Given the description of an element on the screen output the (x, y) to click on. 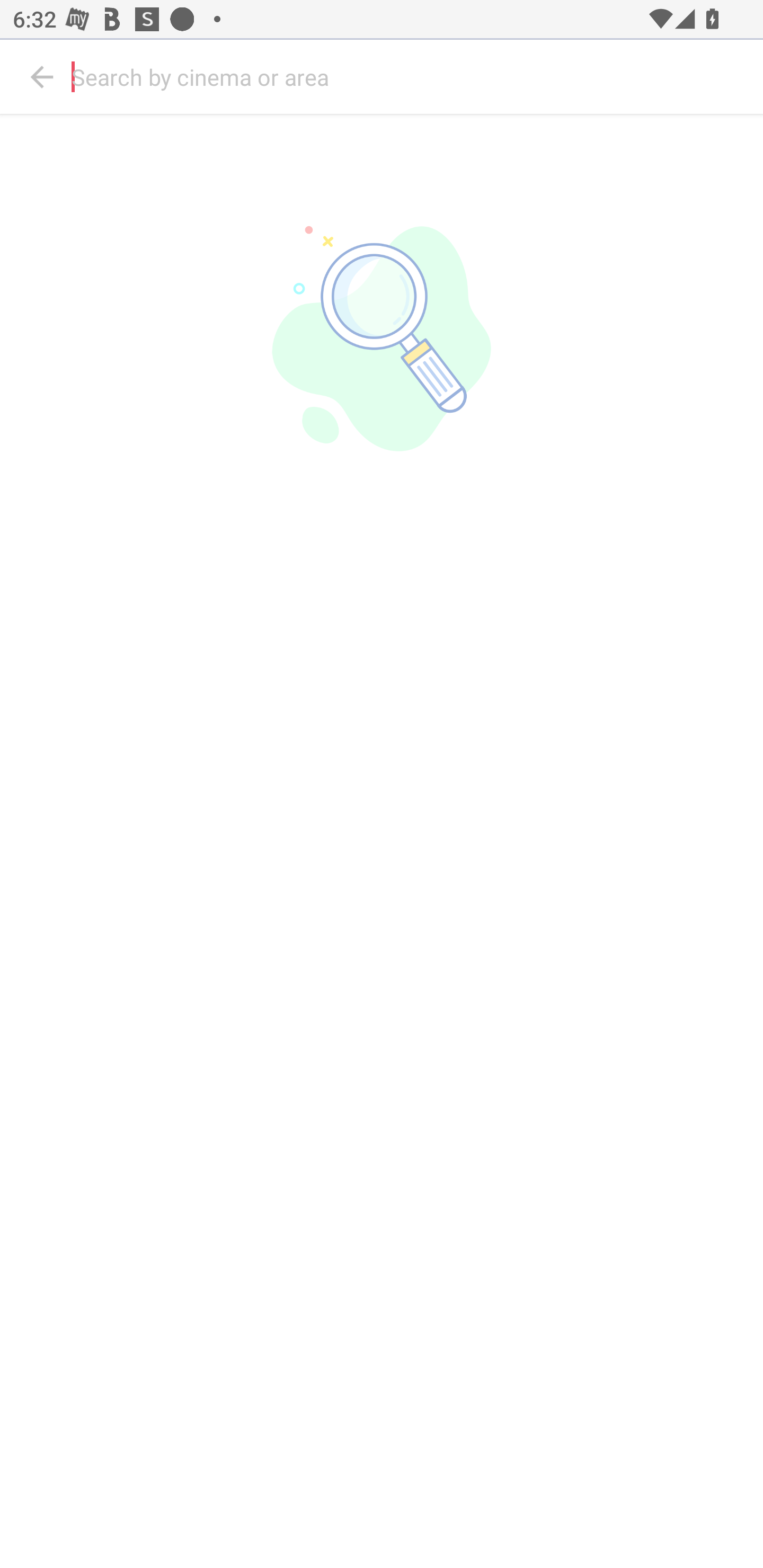
Back (42, 76)
Search by cinema or area (413, 76)
